Given the description of an element on the screen output the (x, y) to click on. 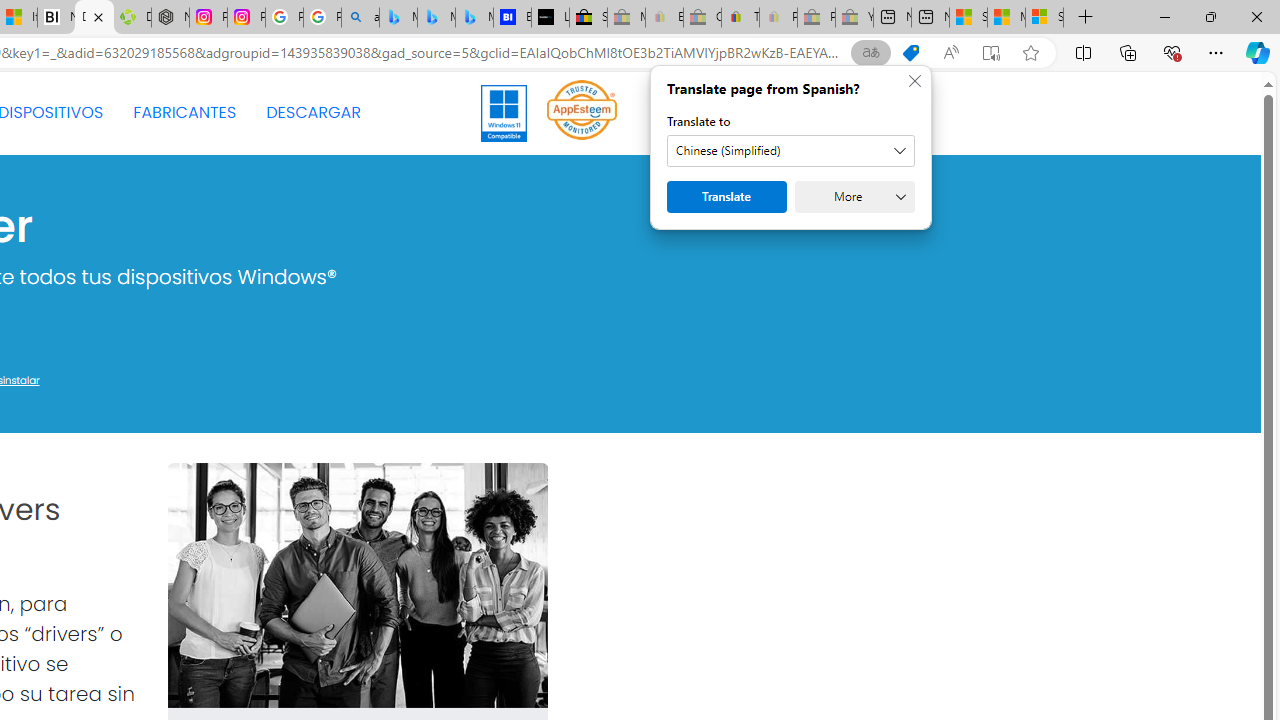
FABRICANTES (184, 112)
Microsoft Bing Travel - Shangri-La Hotel Bangkok (473, 17)
Sign in to your Microsoft account (1044, 17)
team (356, 585)
Press Room - eBay Inc. - Sleeping (815, 17)
Windows 11 (504, 112)
Threats and offensive language policy | eBay (740, 17)
Show translate options (870, 53)
Shopping in Microsoft Edge (910, 53)
